Given the description of an element on the screen output the (x, y) to click on. 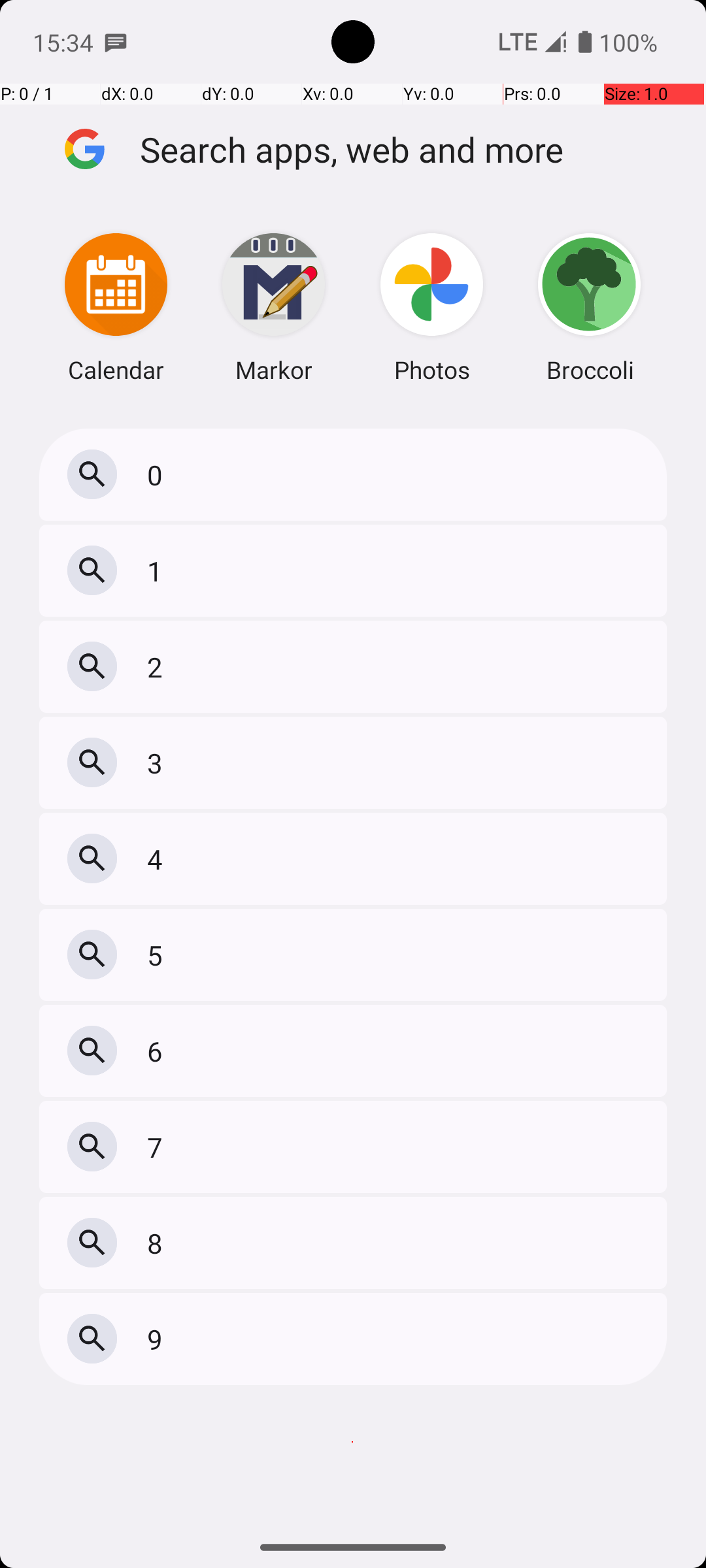
Search apps, web and more Element type: android.widget.EditText (403, 148)
